Given the description of an element on the screen output the (x, y) to click on. 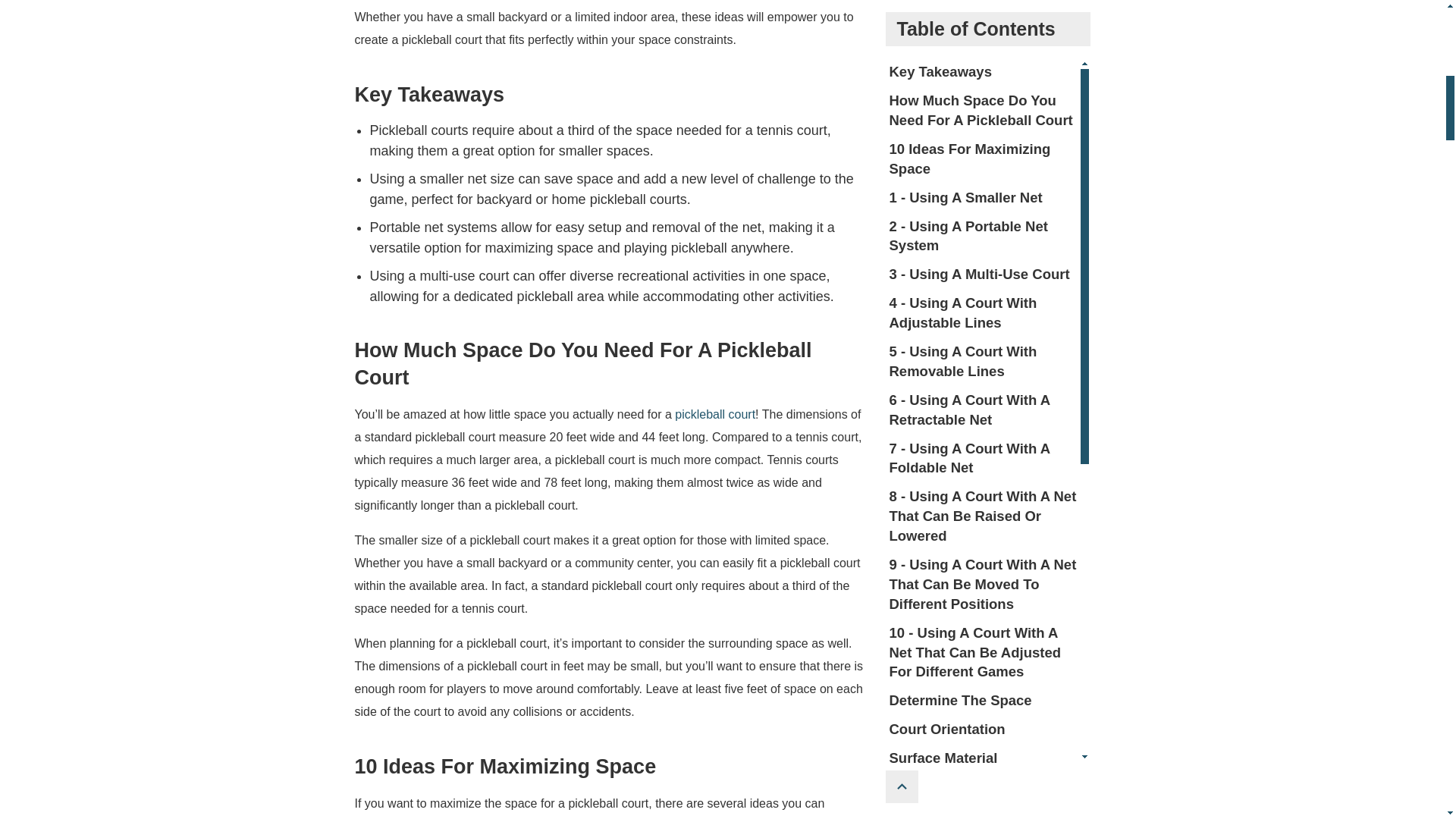
10 Ideas For Maximizing Space (983, 37)
pickleball court (715, 413)
1 - Using A Smaller Net (983, 76)
How Much Space Do You Need For A Pickleball Court (983, 6)
